Given the description of an element on the screen output the (x, y) to click on. 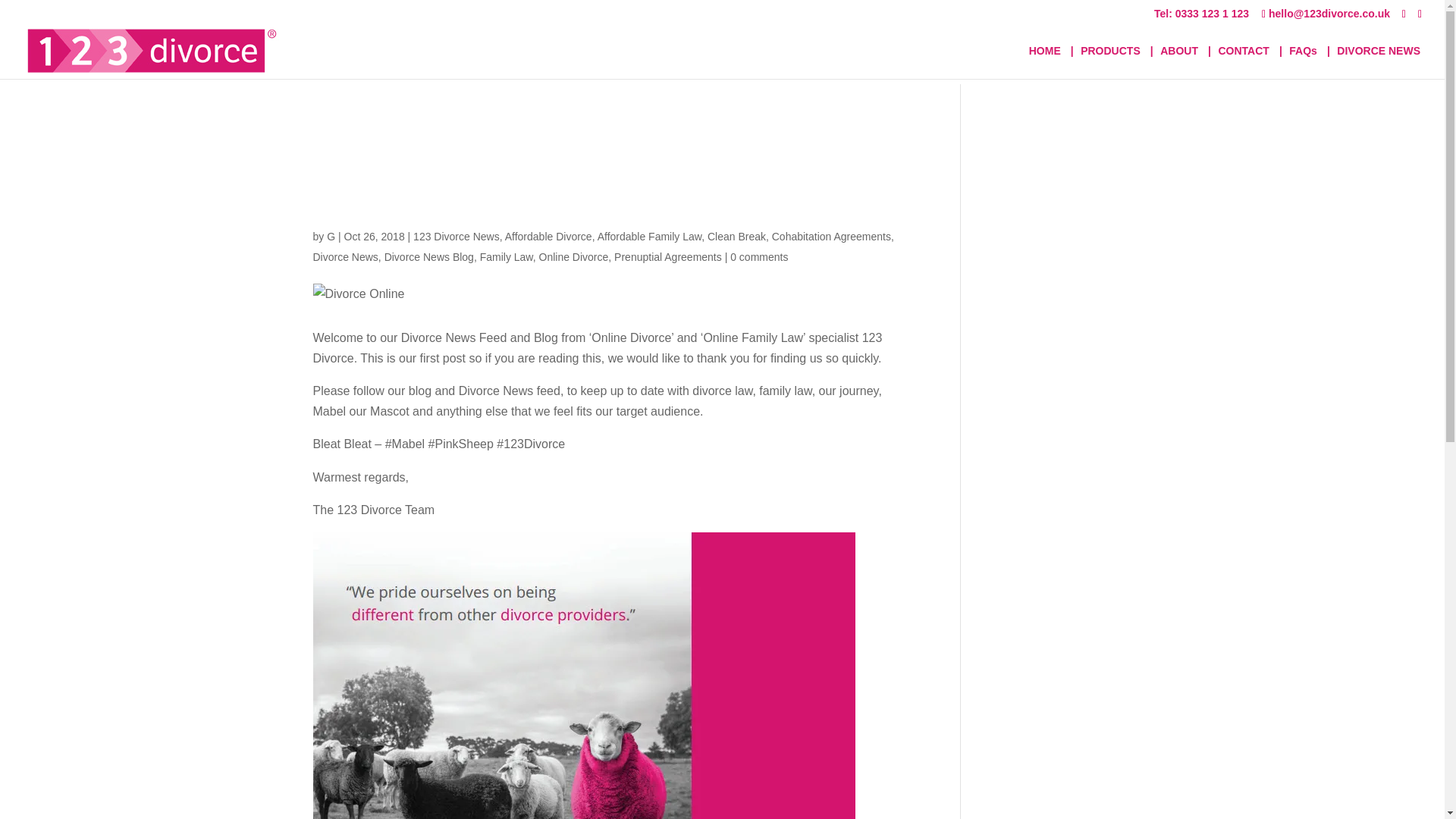
Divorce News Blog (429, 256)
Divorce News (345, 256)
CONTACT (1242, 61)
Clean Break (736, 236)
ABOUT (1179, 61)
Affordable Family Law (648, 236)
Affordable Divorce (548, 236)
Online Divorce (573, 256)
PRODUCTS (1110, 61)
DIVORCE NEWS (1378, 61)
0 comments (758, 256)
Prenuptial Agreements (668, 256)
Family Law (506, 256)
HOME (1045, 61)
Cohabitation Agreements (831, 236)
